Given the description of an element on the screen output the (x, y) to click on. 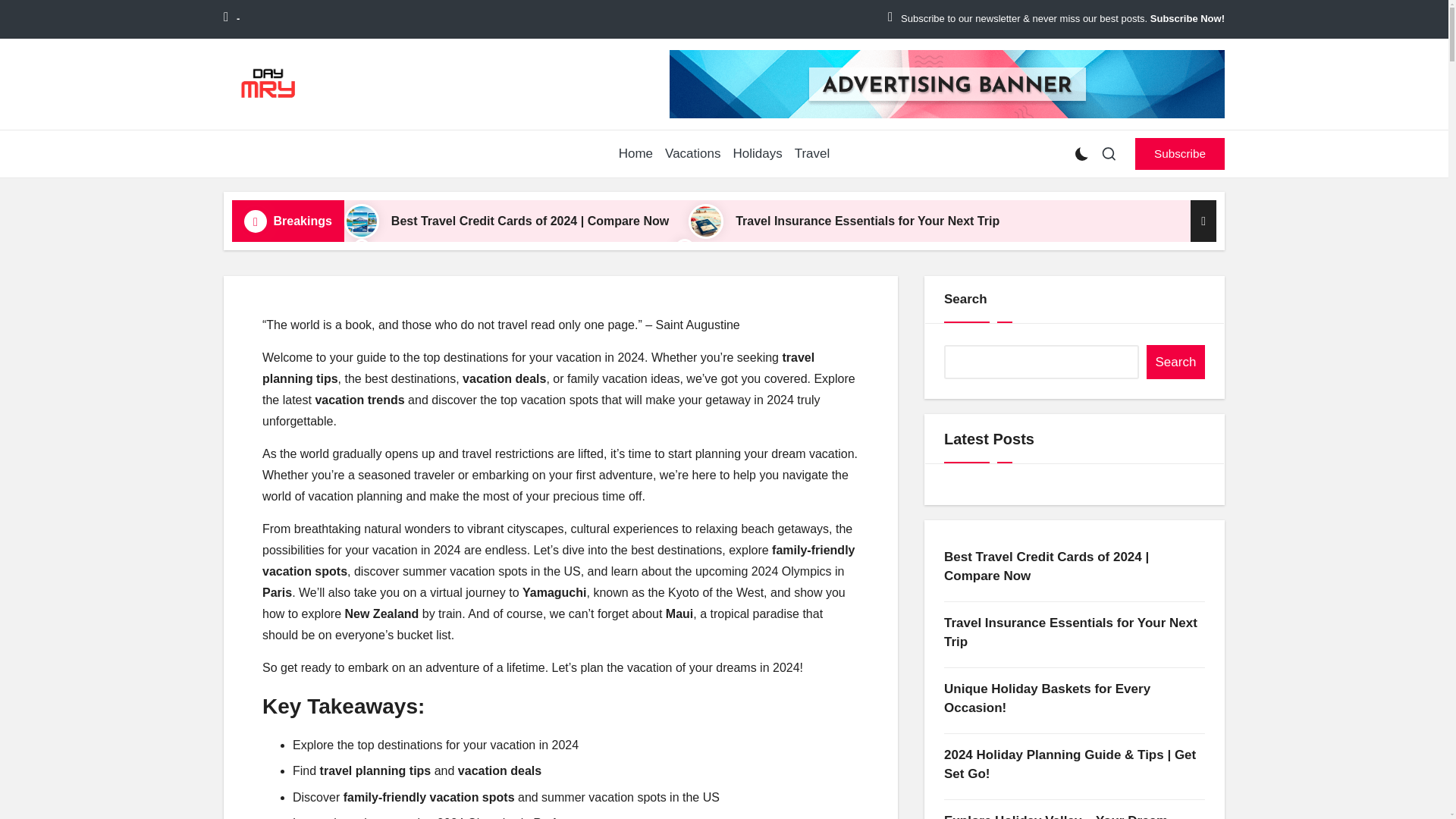
Subscribe Now! (1187, 18)
Subscribe (1179, 153)
Travel Insurance Essentials for Your Next Trip (866, 220)
Vacations (692, 153)
Holidays (756, 153)
